Given the description of an element on the screen output the (x, y) to click on. 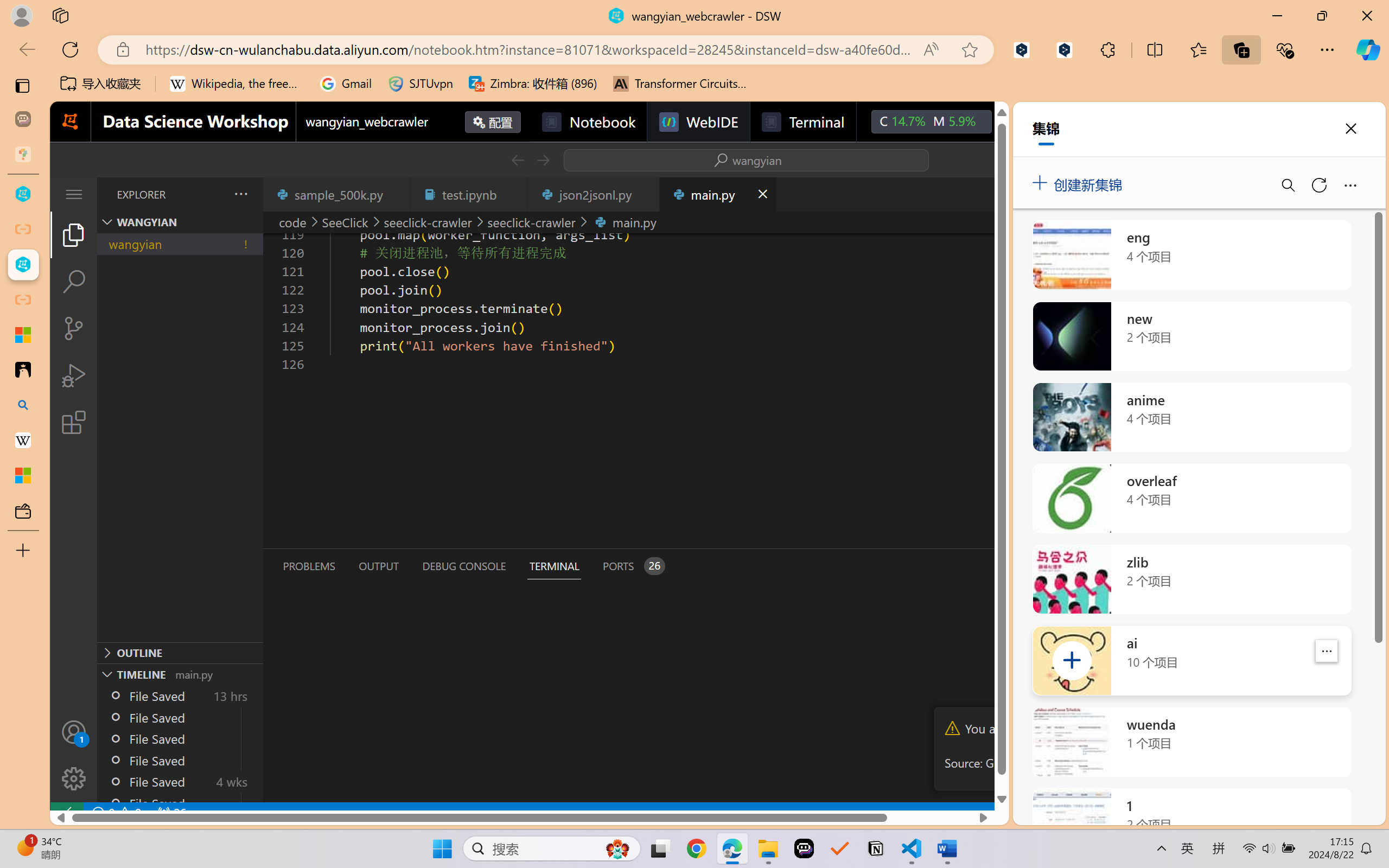
Debug Console (Ctrl+Shift+Y) (463, 565)
Manage (73, 778)
Extensions (Ctrl+Shift+X) (73, 422)
Terminal (801, 121)
Transformer Circuits Thread (680, 83)
Run and Debug (Ctrl+Shift+D) (73, 375)
Terminal (Ctrl+`) (553, 565)
